Given the description of an element on the screen output the (x, y) to click on. 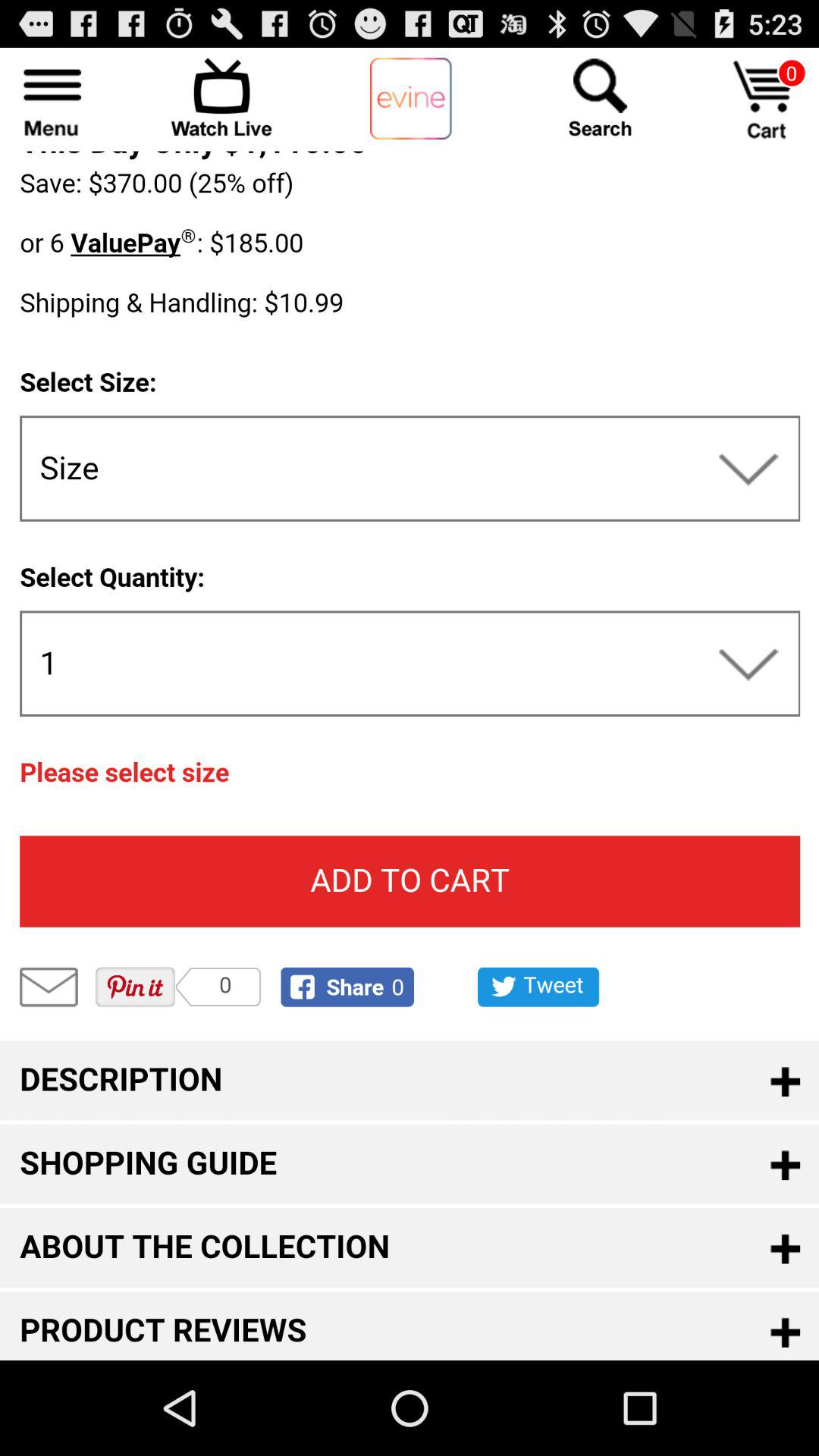
go to purchase (766, 99)
